Given the description of an element on the screen output the (x, y) to click on. 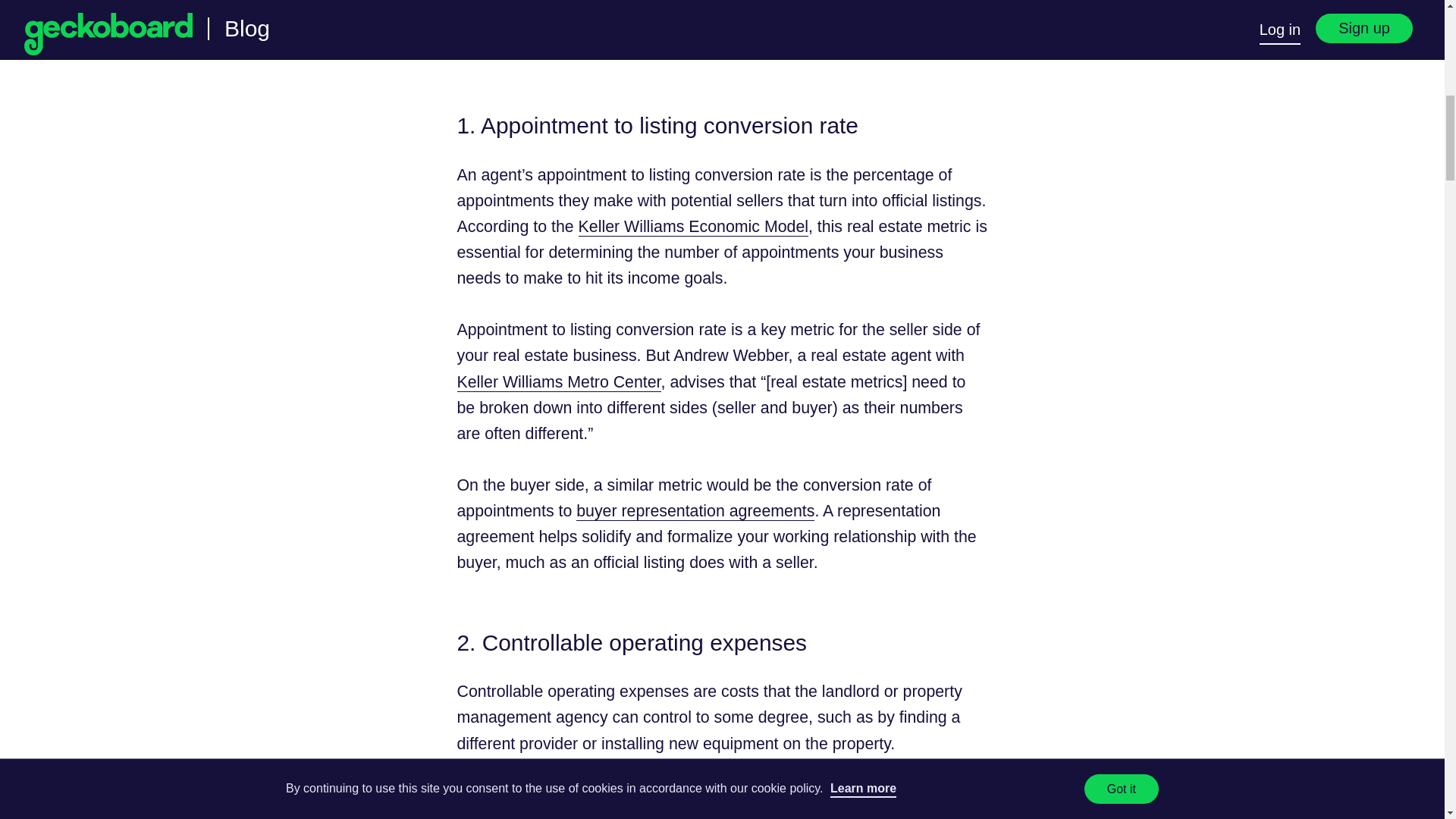
Keller Williams Economic Model (693, 226)
Keller Williams Metro Center (559, 382)
buyer representation agreements (694, 511)
